Given the description of an element on the screen output the (x, y) to click on. 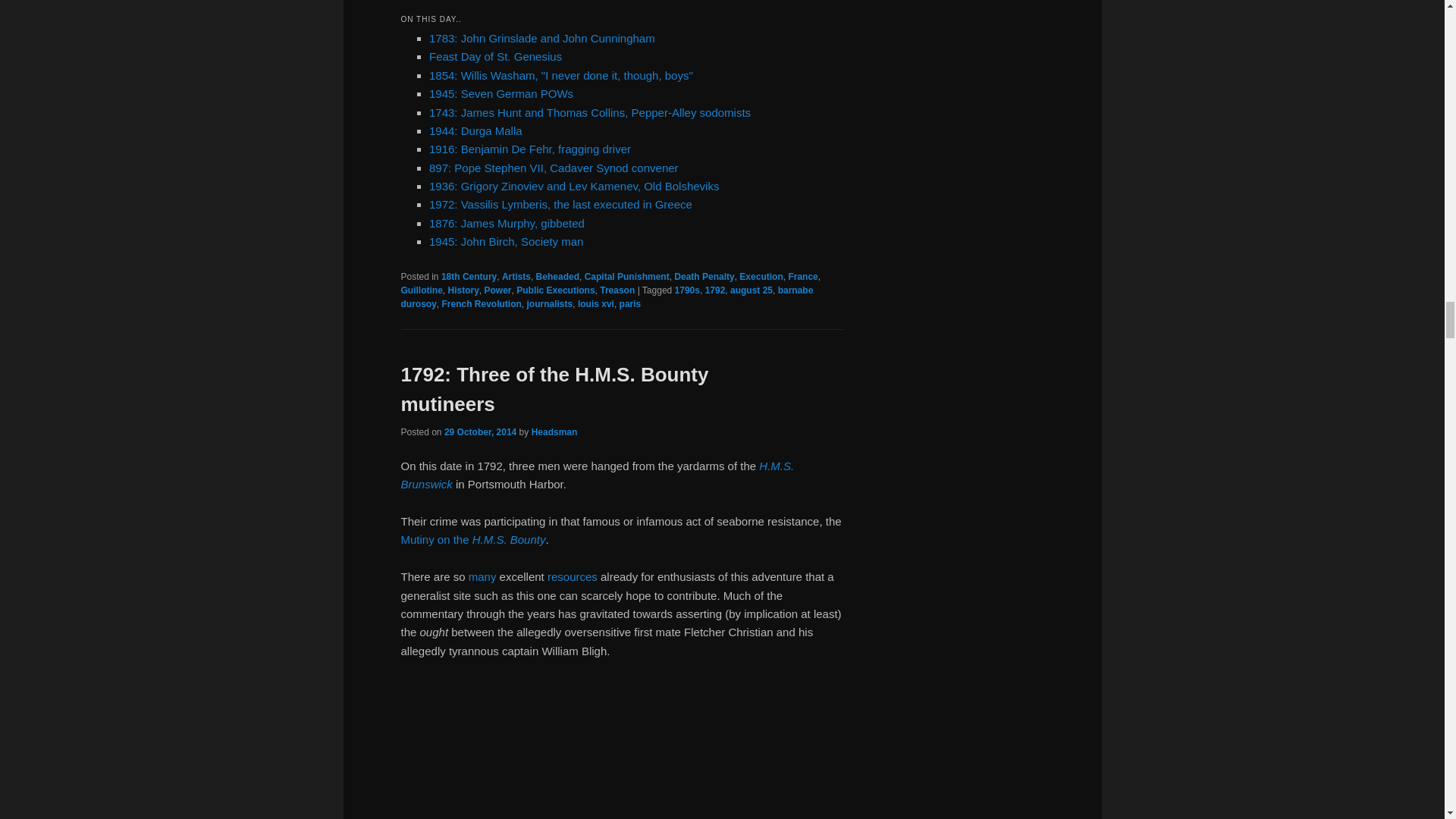
View all posts by Headsman (554, 430)
11:12 am (480, 430)
